Given the description of an element on the screen output the (x, y) to click on. 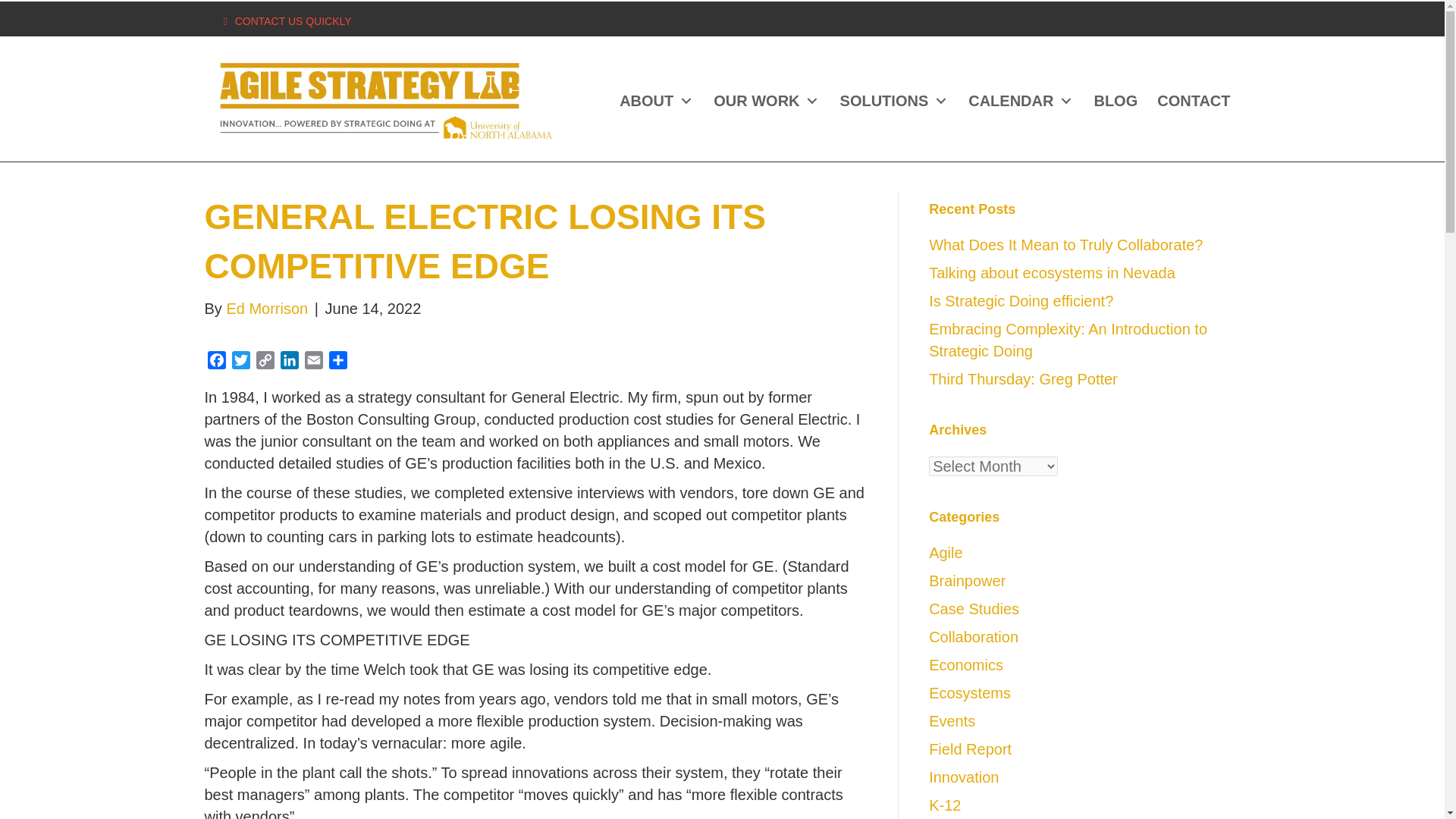
Twitter (240, 362)
Email (313, 362)
ASL-logo (385, 100)
Facebook (216, 362)
BLOG (1115, 100)
LinkedIn (289, 362)
CONTACT US QUICKLY (293, 20)
LinkedIn (289, 362)
Facebook (216, 362)
Email (313, 362)
